Given the description of an element on the screen output the (x, y) to click on. 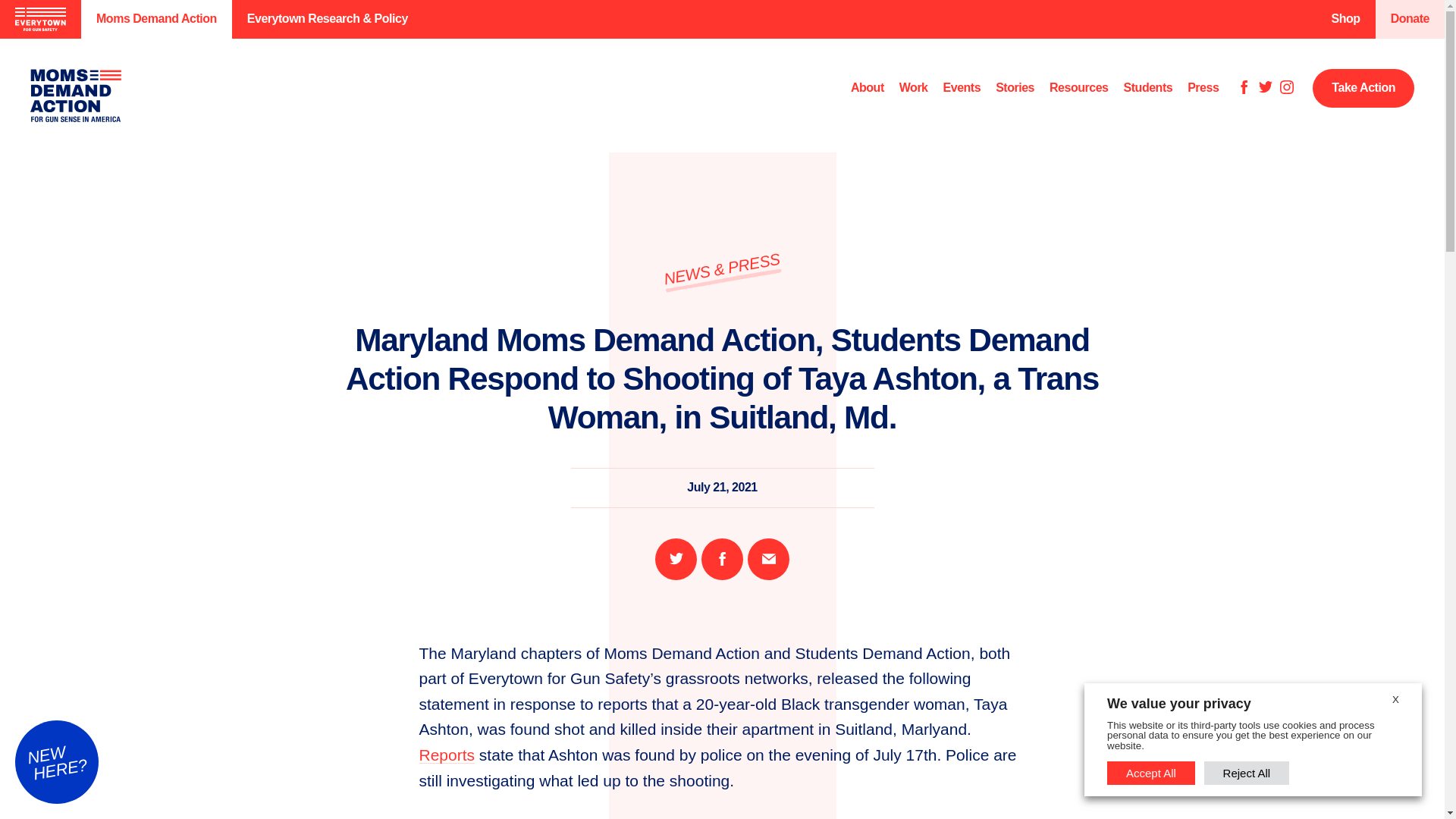
Resources (1078, 88)
Events (962, 88)
Follow us on Twitter (1265, 88)
Follow us on Facebook (1244, 88)
Follow us on Instagram (1286, 88)
Stories (1014, 88)
Work (913, 88)
Take Action (1363, 87)
About (866, 88)
Students (1148, 88)
Moms Demand Action (156, 19)
Shop (1345, 19)
Press (1203, 88)
